Given the description of an element on the screen output the (x, y) to click on. 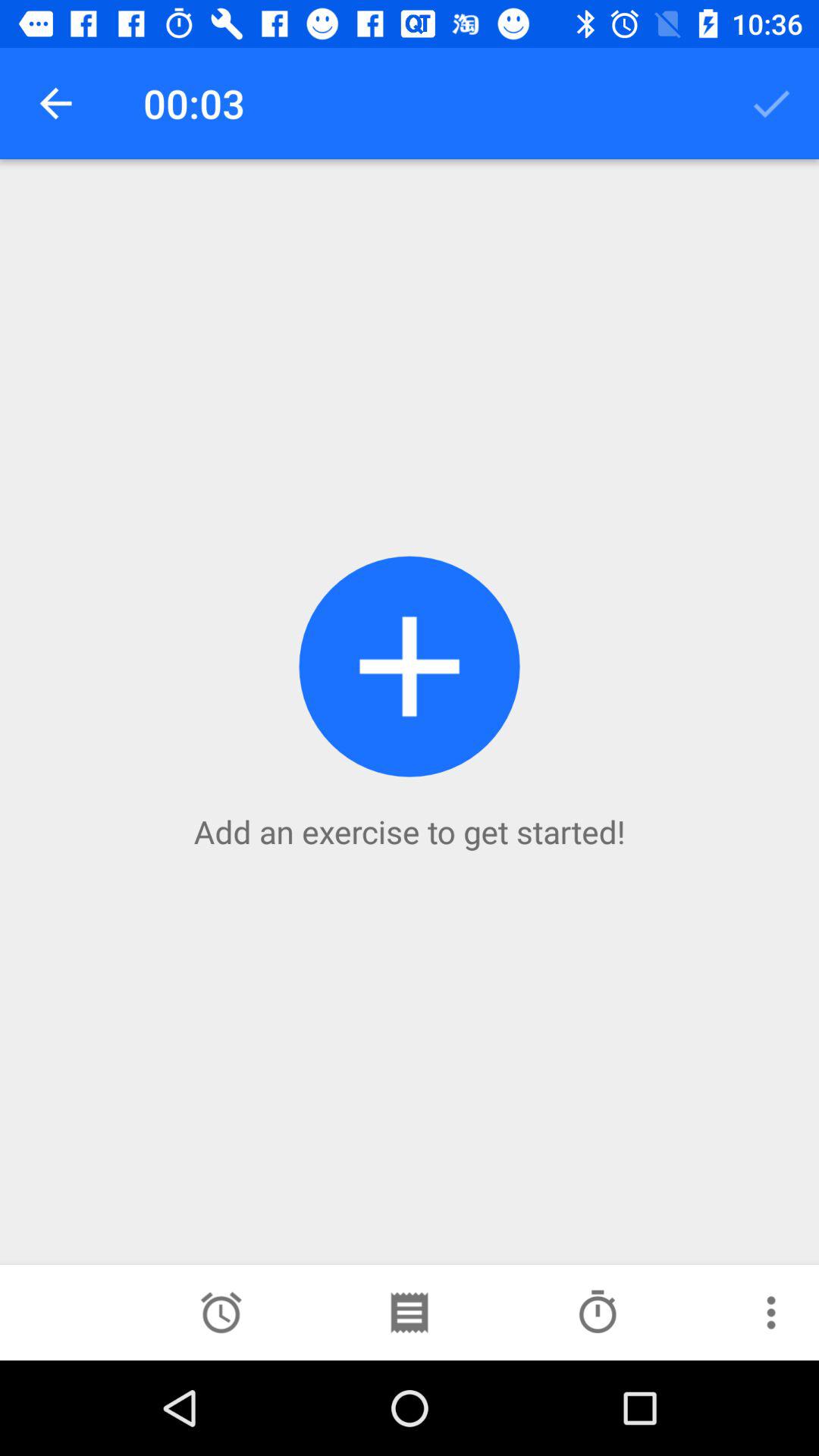
turn on the icon next to 00:03 item (55, 103)
